Given the description of an element on the screen output the (x, y) to click on. 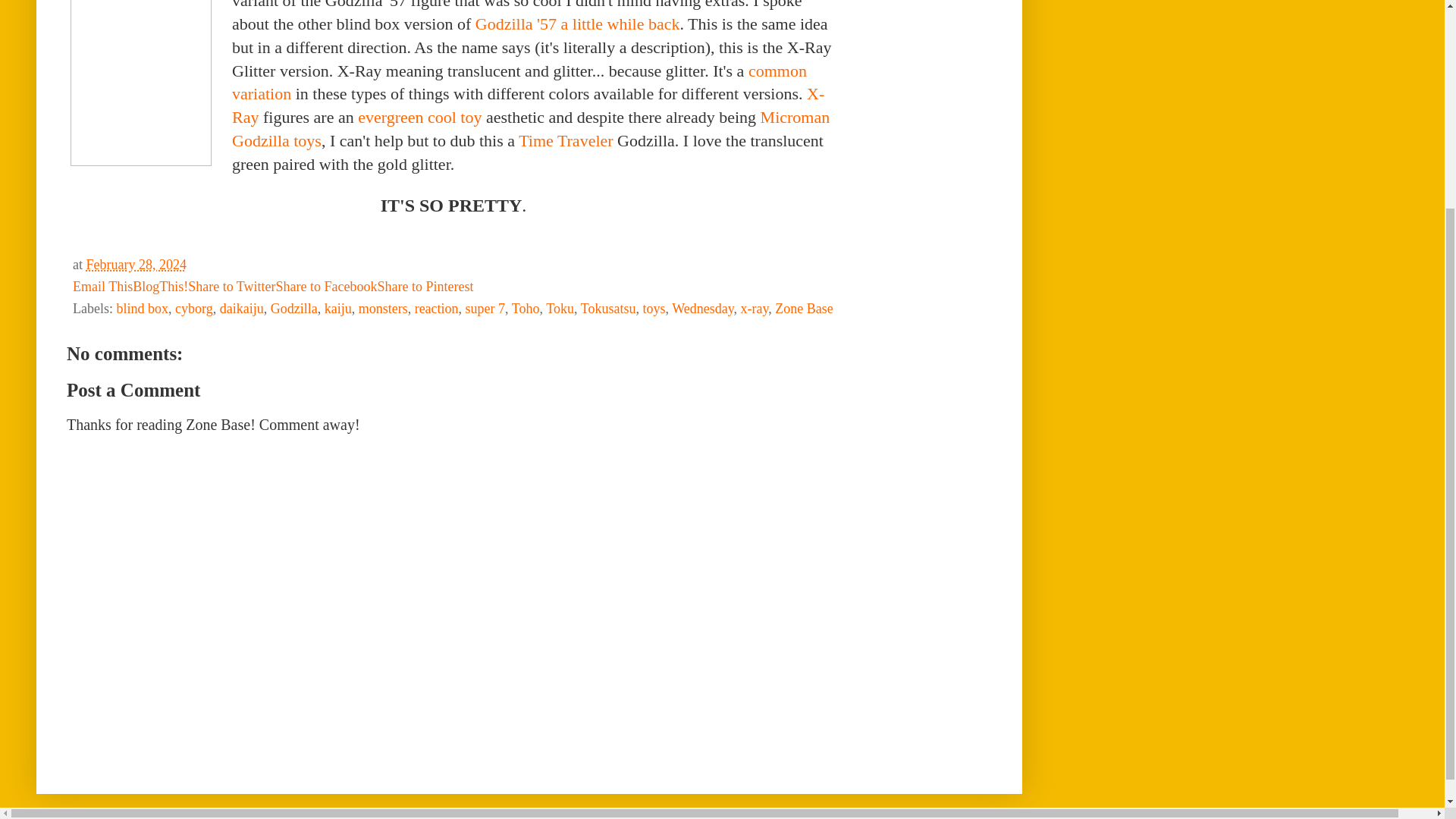
reaction (436, 308)
X-Ray (527, 105)
super 7 (485, 308)
Share to Twitter (231, 286)
blind box (142, 308)
BlogThis! (159, 286)
February 28, 2024 (135, 264)
common variation (518, 82)
Share to Facebook (326, 286)
toys (653, 308)
x-ray (753, 308)
Email This (102, 286)
Tokusatsu (608, 308)
Toku (559, 308)
Email This (102, 286)
